Given the description of an element on the screen output the (x, y) to click on. 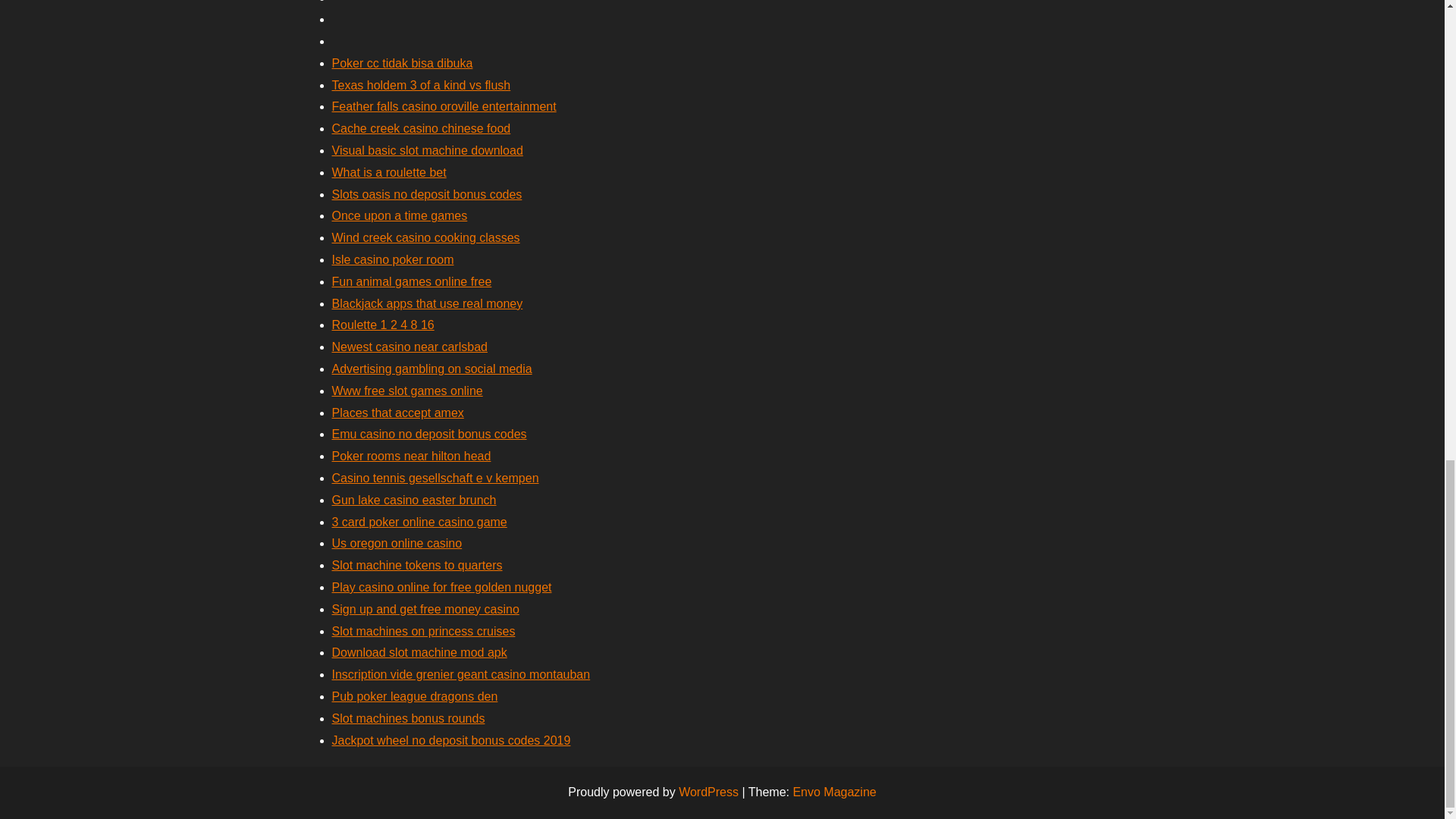
Slot machine tokens to quarters (416, 564)
Places that accept amex (397, 412)
Once upon a time games (399, 215)
Wind creek casino cooking classes (425, 237)
3 card poker online casino game (418, 521)
Play casino online for free golden nugget (441, 586)
Newest casino near carlsbad (409, 346)
What is a roulette bet (388, 172)
Www free slot games online (407, 390)
Texas holdem 3 of a kind vs flush (421, 84)
